Given the description of an element on the screen output the (x, y) to click on. 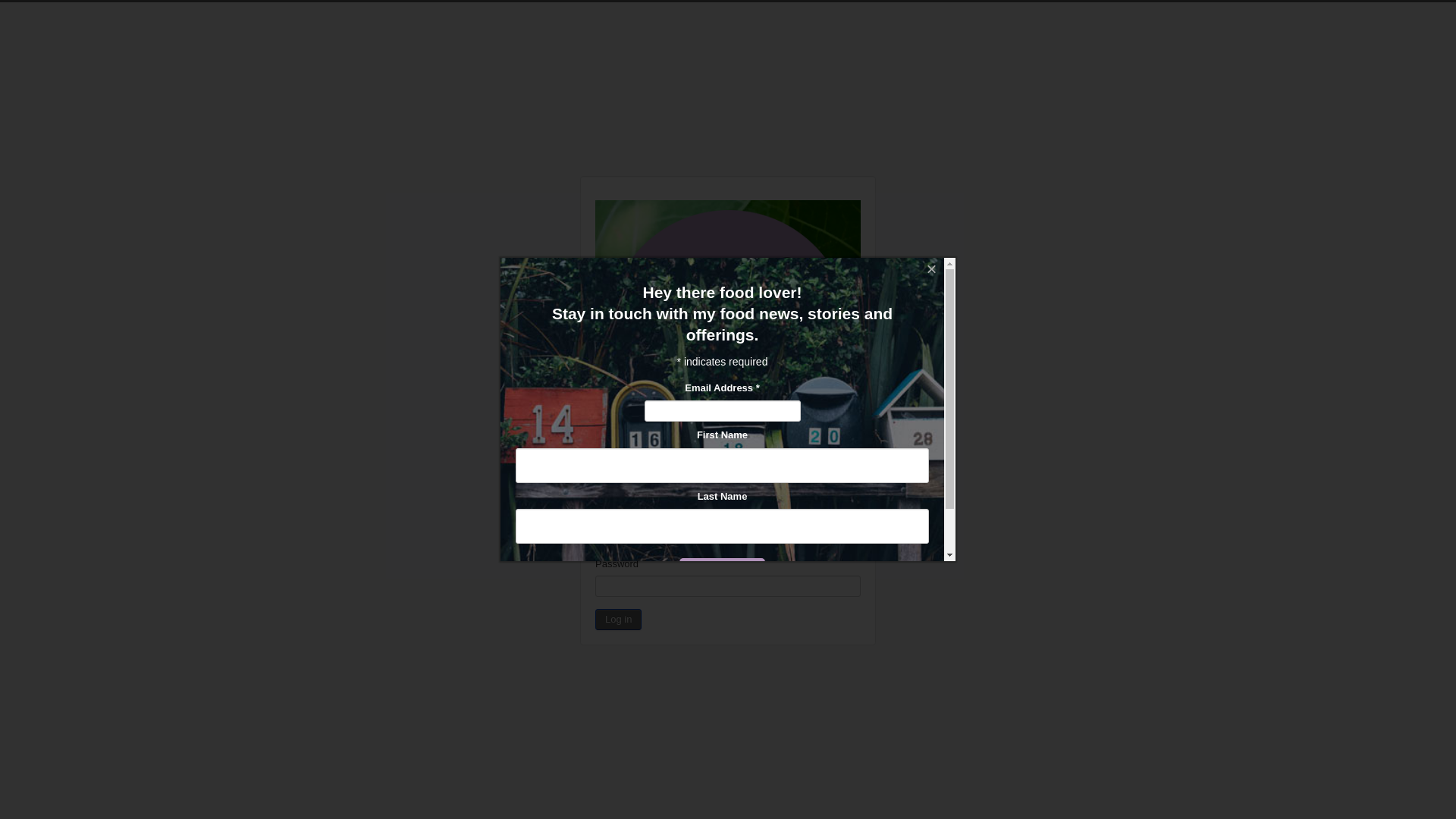
Log in Element type: text (618, 619)
Password Element type: hover (727, 585)
Username Element type: hover (727, 539)
Subscribe Element type: text (722, 572)
